Given the description of an element on the screen output the (x, y) to click on. 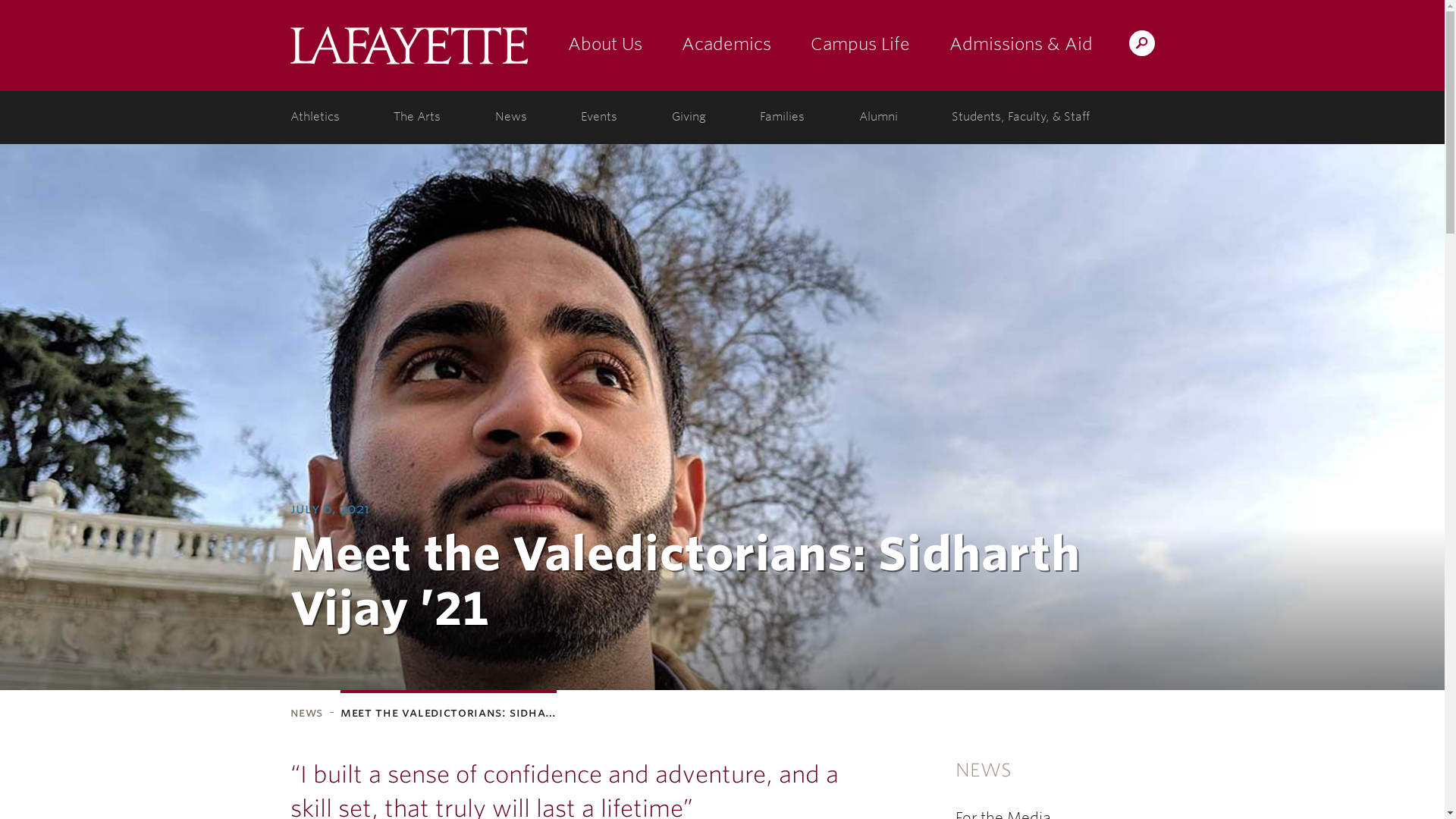
Campus Life (859, 45)
Lafayette College (408, 45)
Search Lafayette.edu (1141, 43)
Academics (725, 45)
Search (842, 42)
About Us (603, 45)
